Given the description of an element on the screen output the (x, y) to click on. 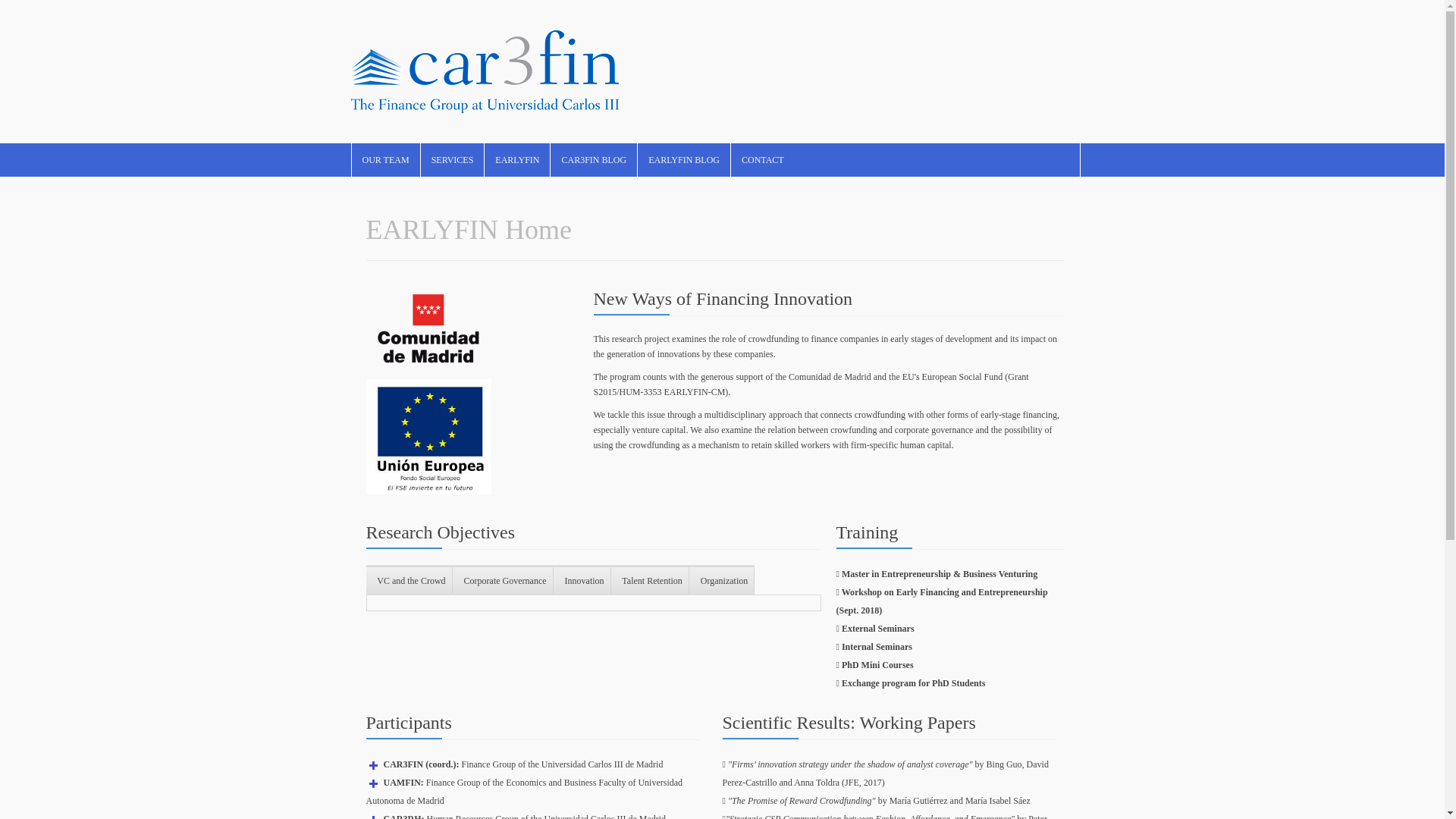
  Innovation (582, 580)
Participants (408, 722)
Participants (408, 722)
  VC and the Crowd (408, 580)
  Organization (721, 580)
SERVICES (452, 159)
  Talent Retention (649, 580)
External Seminars (877, 628)
Objectives (440, 532)
CAR3FIN BLOG (593, 159)
